Given the description of an element on the screen output the (x, y) to click on. 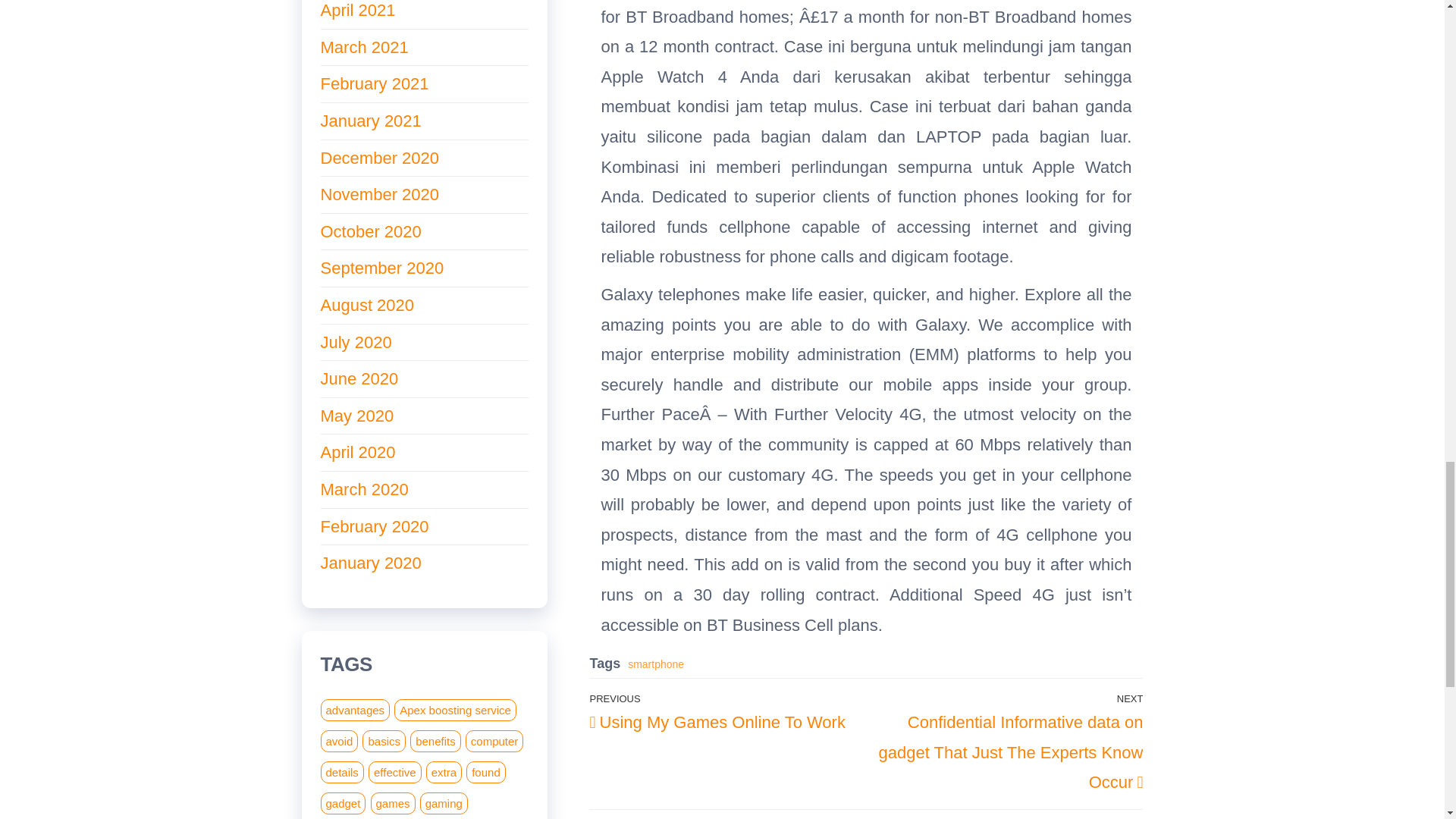
smartphone (655, 664)
January 2021 (370, 120)
November 2020 (379, 194)
December 2020 (379, 157)
October 2020 (370, 230)
April 2021 (357, 9)
February 2021 (374, 83)
March 2021 (363, 46)
